Given the description of an element on the screen output the (x, y) to click on. 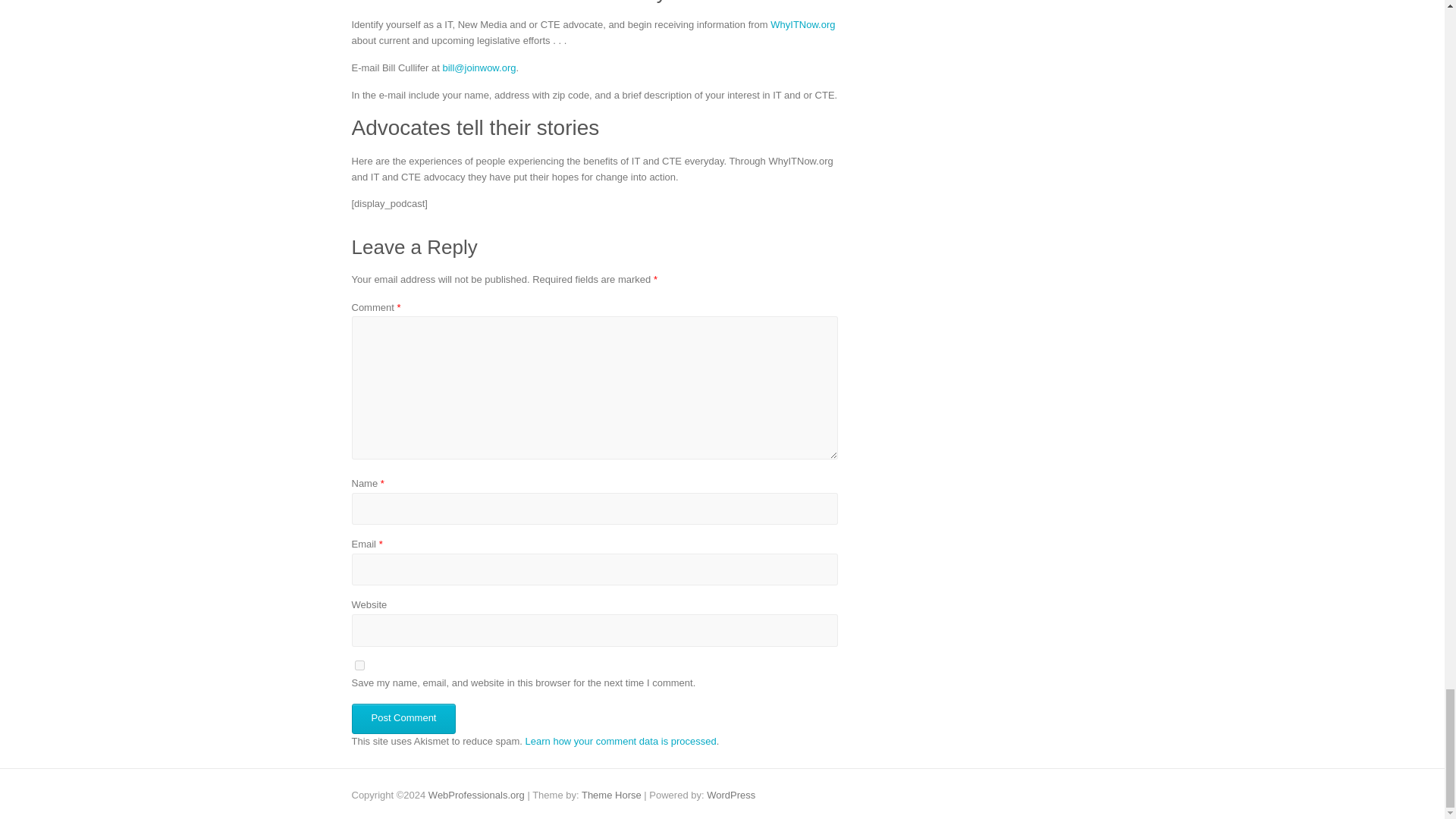
Post Comment (404, 718)
yes (360, 665)
WordPress (730, 794)
WebProfessionals.org (476, 794)
Theme Horse (611, 794)
